Given the description of an element on the screen output the (x, y) to click on. 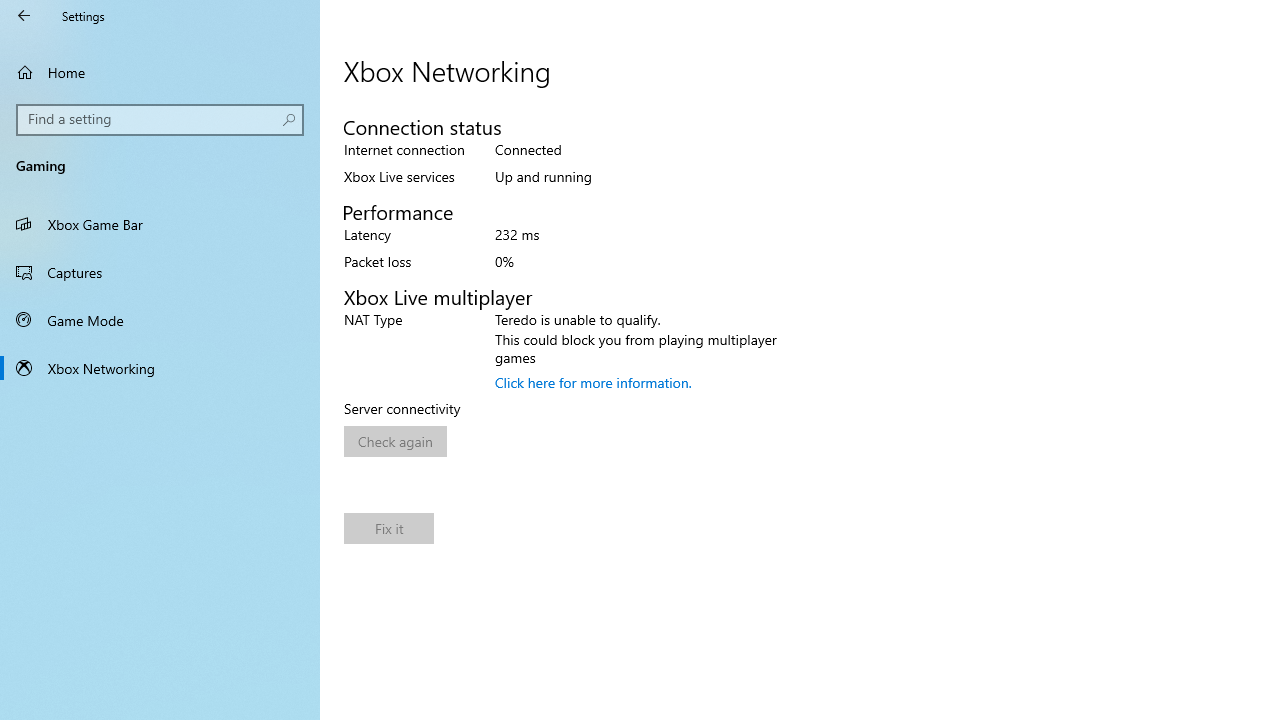
Home (160, 71)
Click here for more information. (593, 382)
Search box, Find a setting (160, 119)
Game Mode (160, 319)
Xbox Networking (160, 367)
Back (24, 15)
Captures (160, 271)
Xbox Game Bar (160, 223)
Check again (395, 441)
Fix it (388, 528)
